Given the description of an element on the screen output the (x, y) to click on. 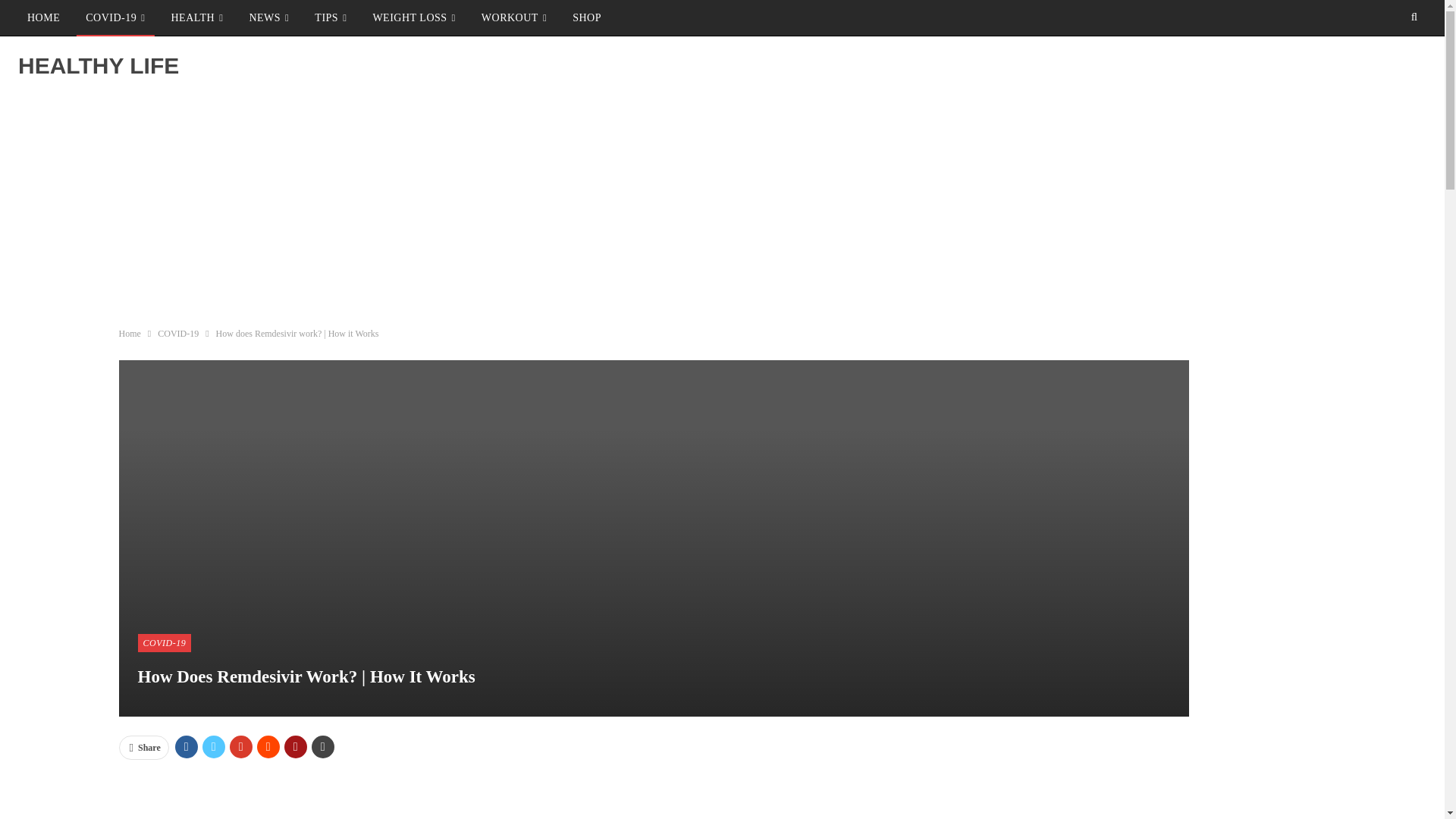
NEWS (269, 18)
HOME (42, 18)
COVID-19 (115, 18)
HEALTH (196, 18)
